Given the description of an element on the screen output the (x, y) to click on. 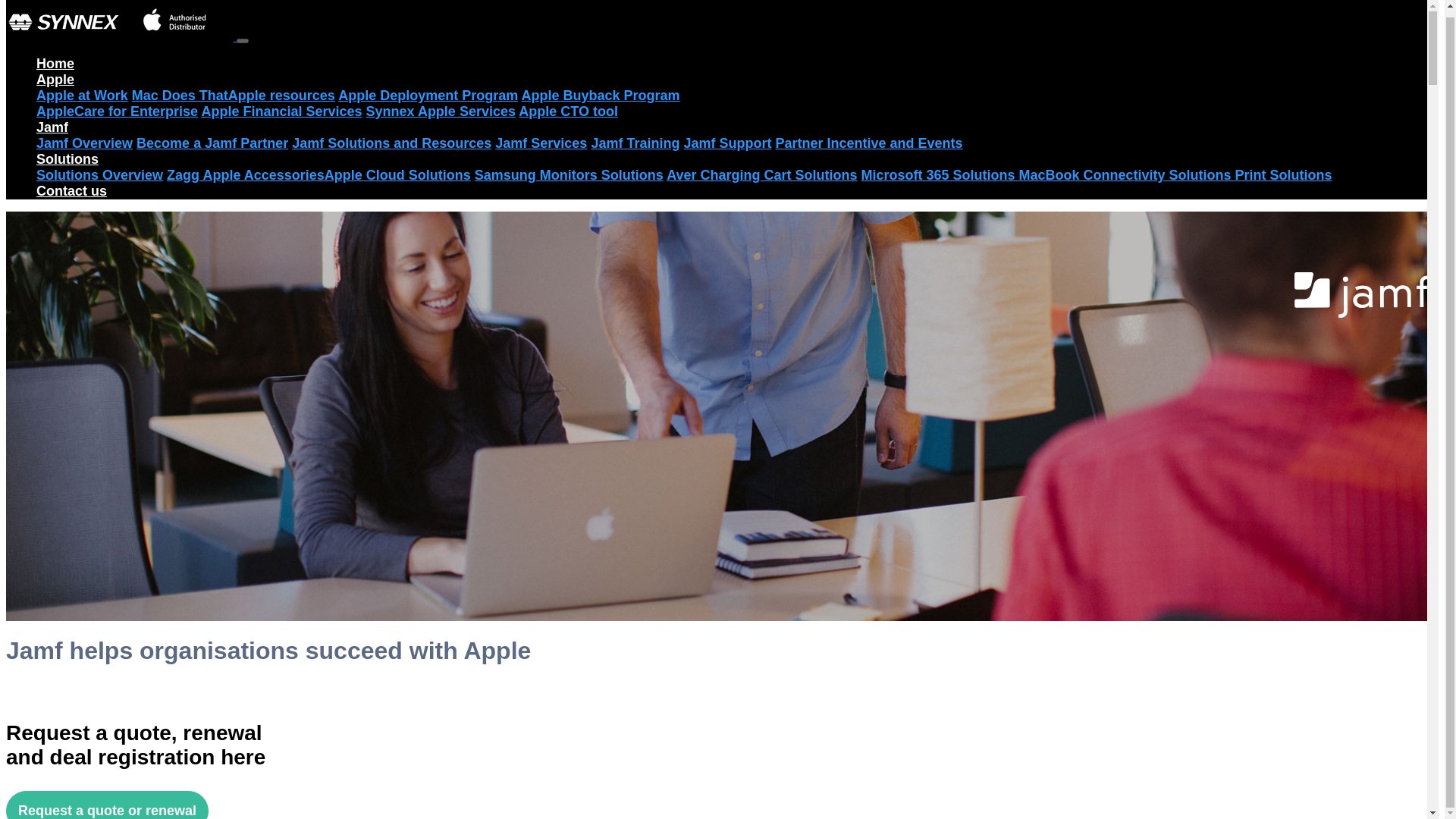
Apple Deployment Program (427, 95)
Apple resources (281, 95)
Jamf Training (635, 142)
Home (55, 63)
Jamf Overview (84, 142)
Apple CTO tool (567, 111)
Microsoft 365 Solutions (940, 174)
Jamf (52, 127)
AppleCare for Enterprise (117, 111)
Print Solutions (1283, 174)
